Given the description of an element on the screen output the (x, y) to click on. 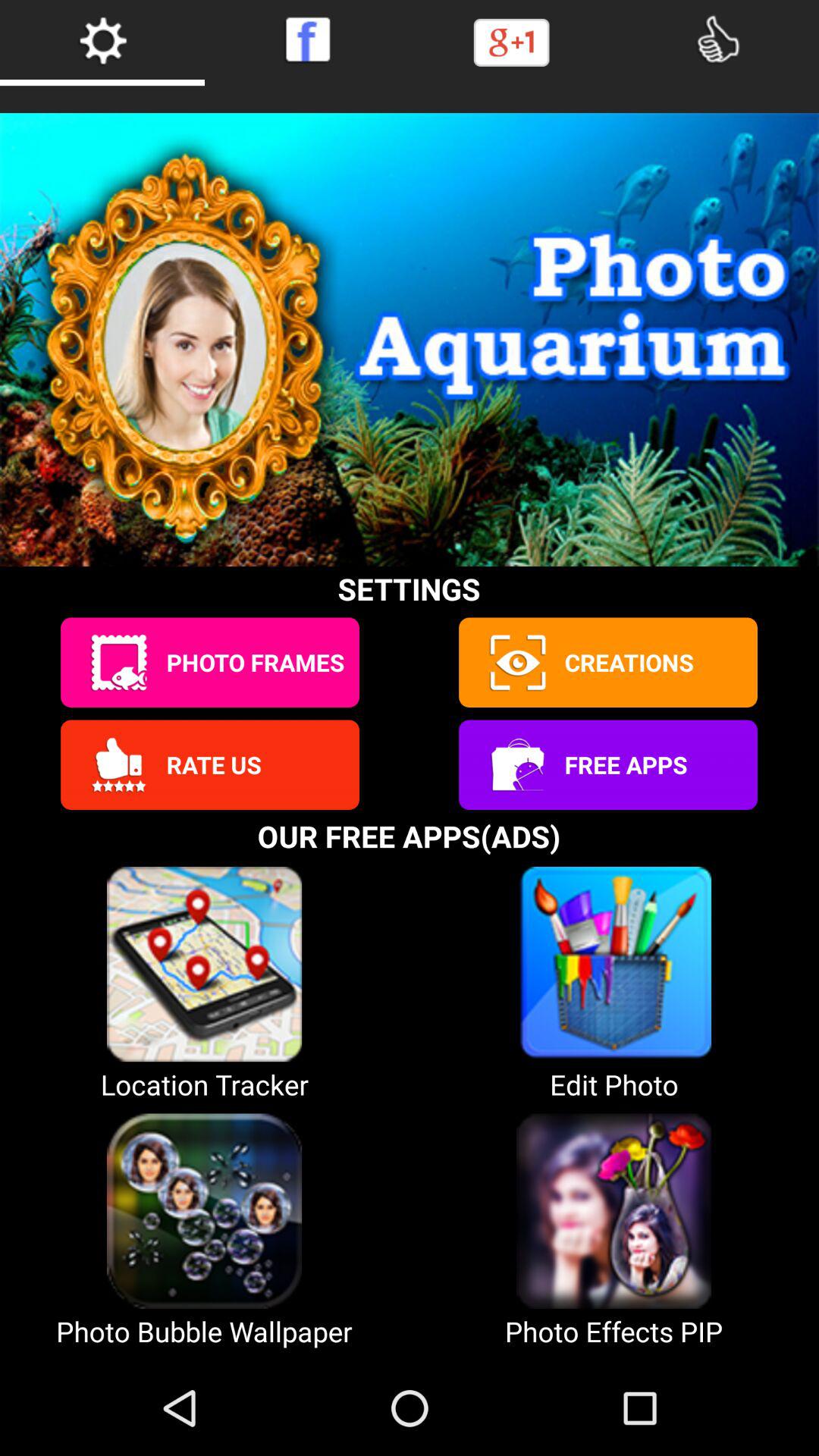
facebook option (306, 39)
